Given the description of an element on the screen output the (x, y) to click on. 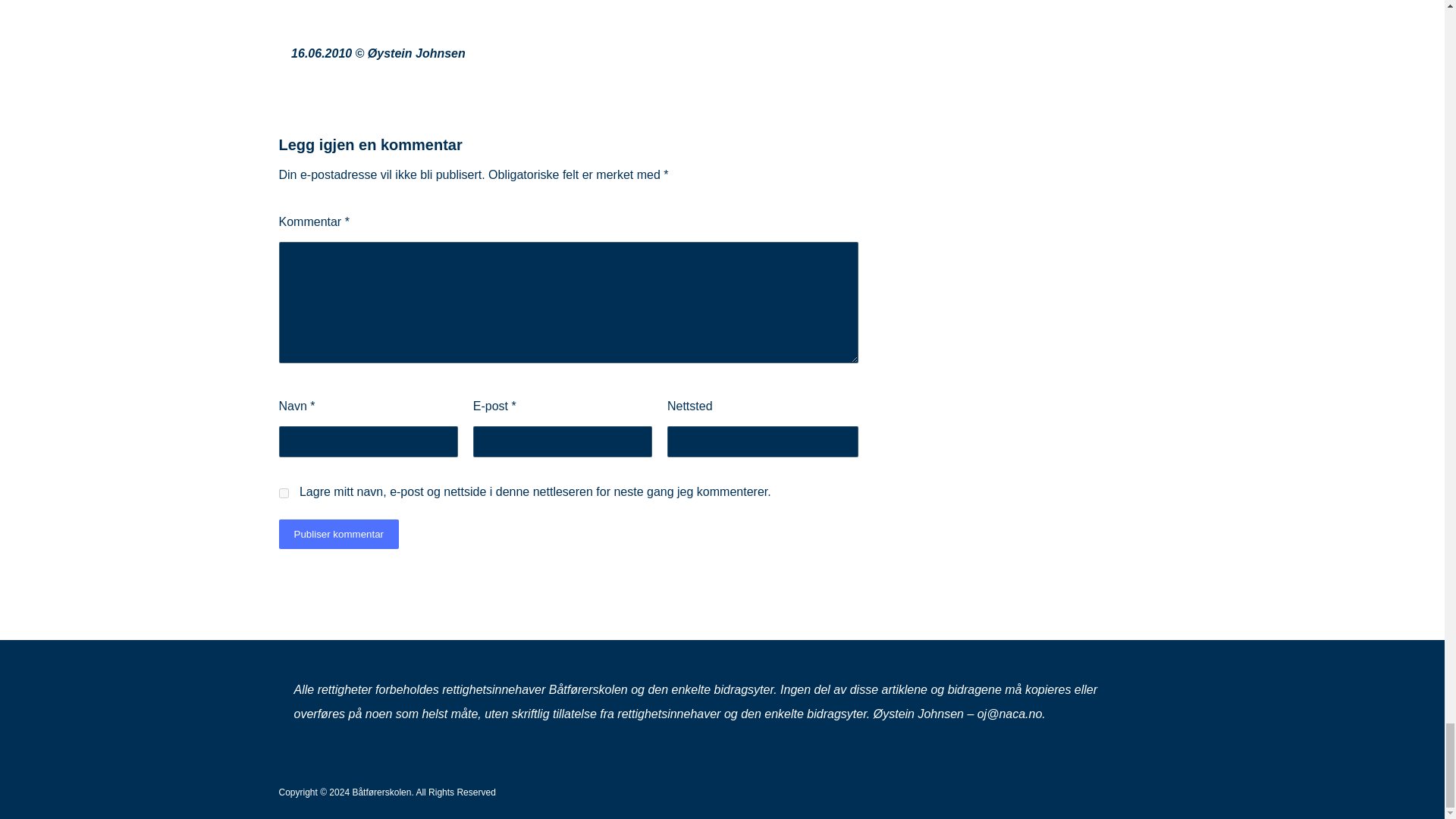
yes (283, 492)
